Given the description of an element on the screen output the (x, y) to click on. 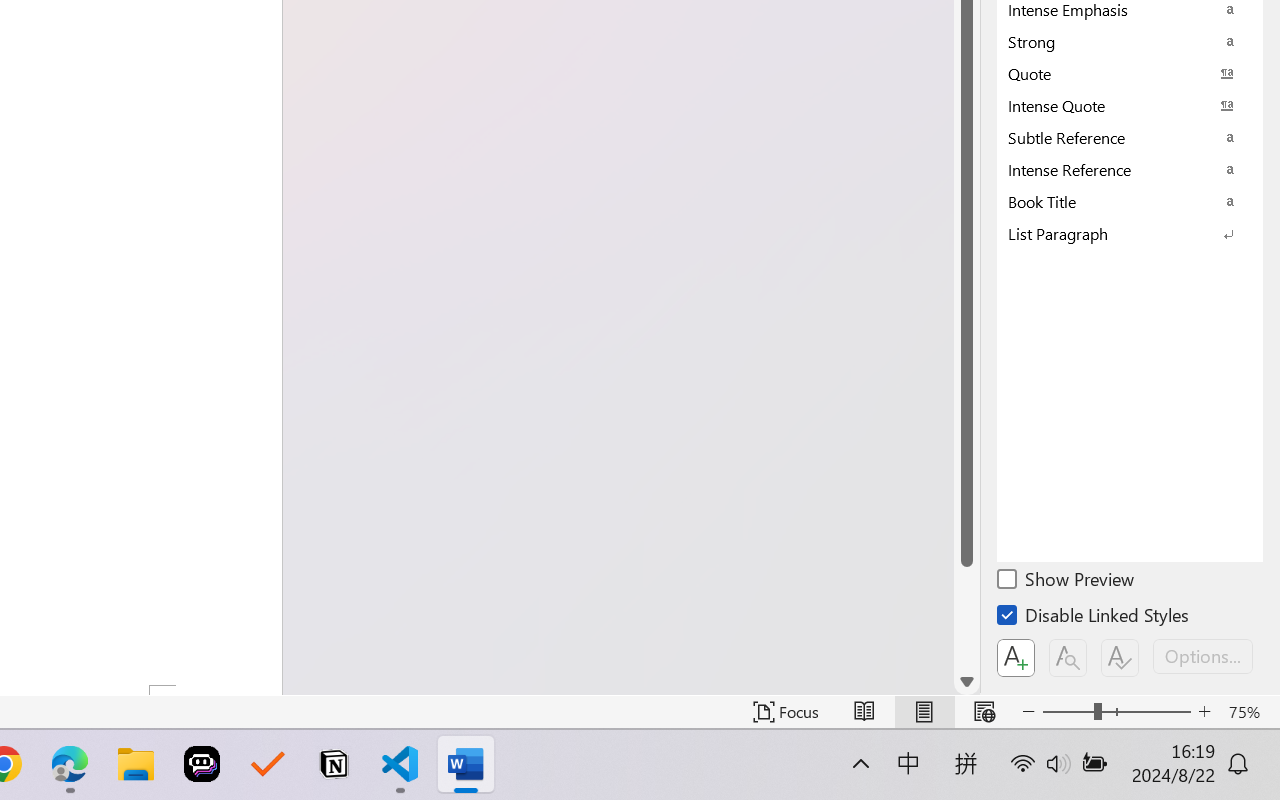
Strong (1130, 41)
Subtle Reference (1130, 137)
Zoom 75% (1249, 712)
Intense Reference (1130, 169)
Show Preview (1067, 582)
Book Title (1130, 201)
Disable Linked Styles (1094, 618)
Intense Quote (1130, 105)
Quote (1130, 73)
